Given the description of an element on the screen output the (x, y) to click on. 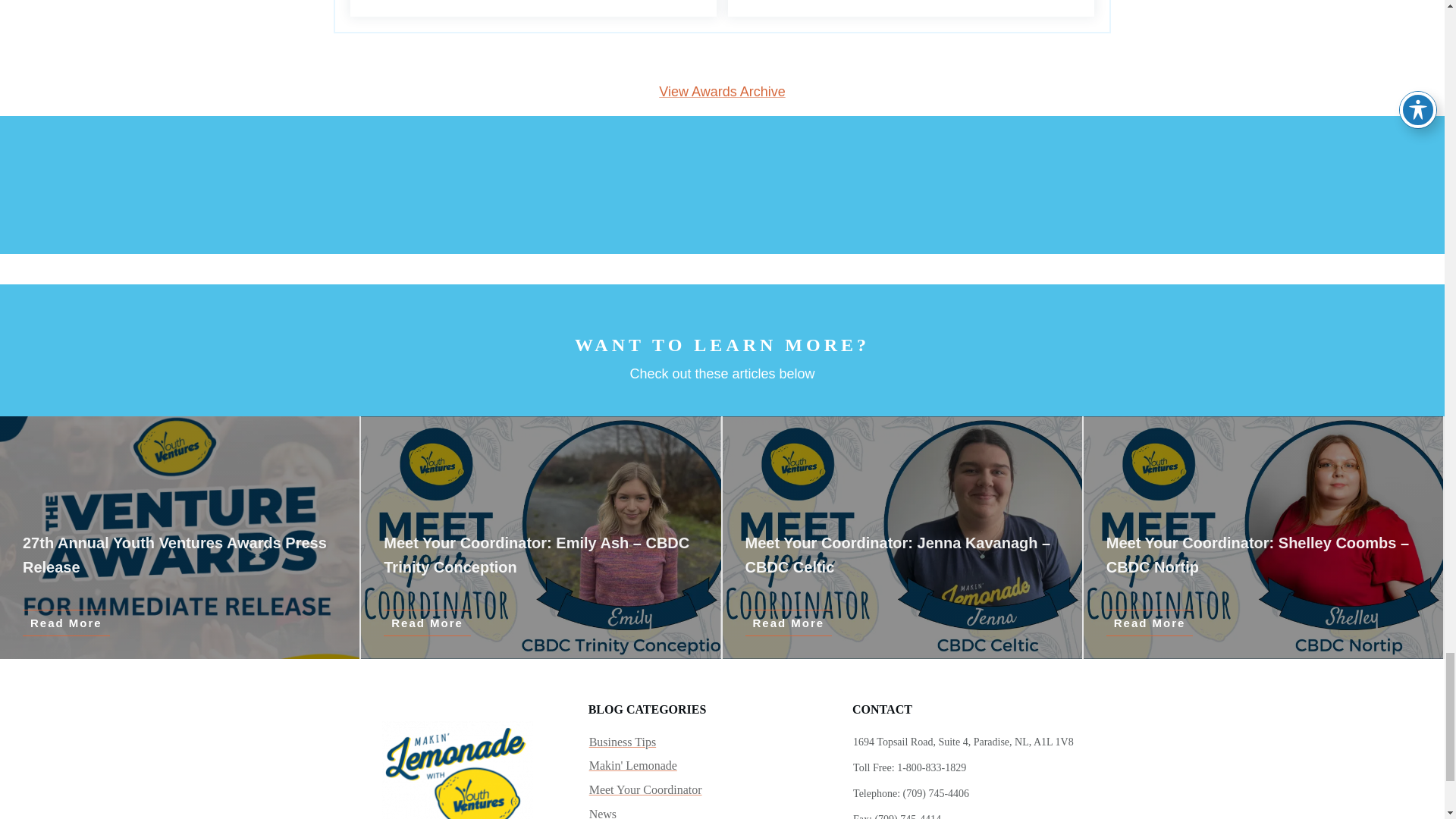
Makin' Lemonade (633, 765)
27th Annual Youth Ventures Awards Press Release (174, 554)
Read More (1149, 622)
Read More (66, 622)
News (602, 811)
Business Tips (622, 742)
Read More (427, 622)
View Awards Archive (721, 91)
Read More (787, 622)
Meet Your Coordinator (645, 790)
